Given the description of an element on the screen output the (x, y) to click on. 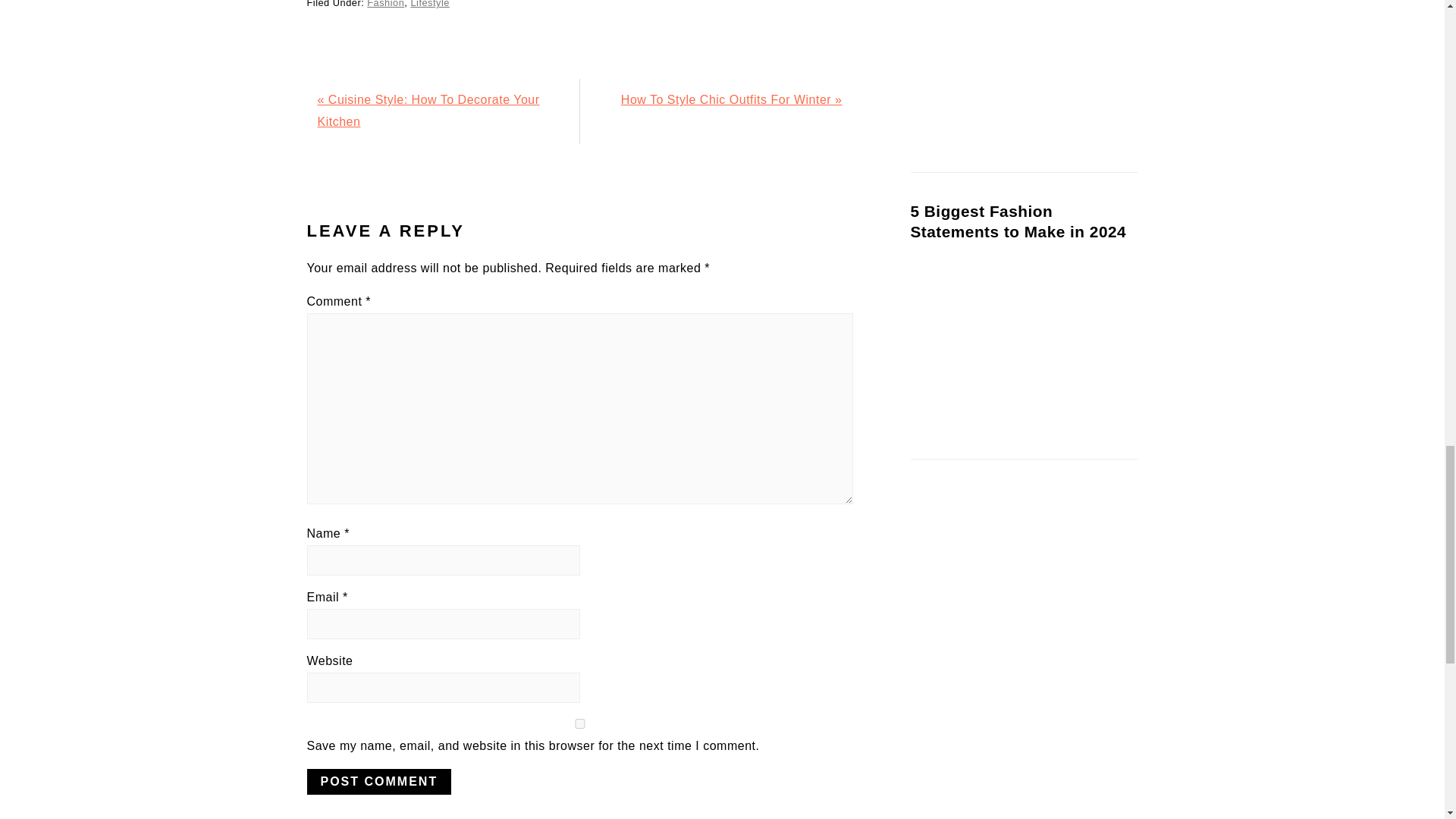
Post Comment (378, 781)
yes (578, 723)
5 Biggest Fashion Statements to Make in 2024 (1023, 345)
Post Comment (378, 781)
Lifestyle (429, 4)
Fashion (385, 4)
5 Biggest Fashion Statements to Make in 2024 (1017, 221)
How to Celebrate Your Anniversary in Style (1023, 67)
